Given the description of an element on the screen output the (x, y) to click on. 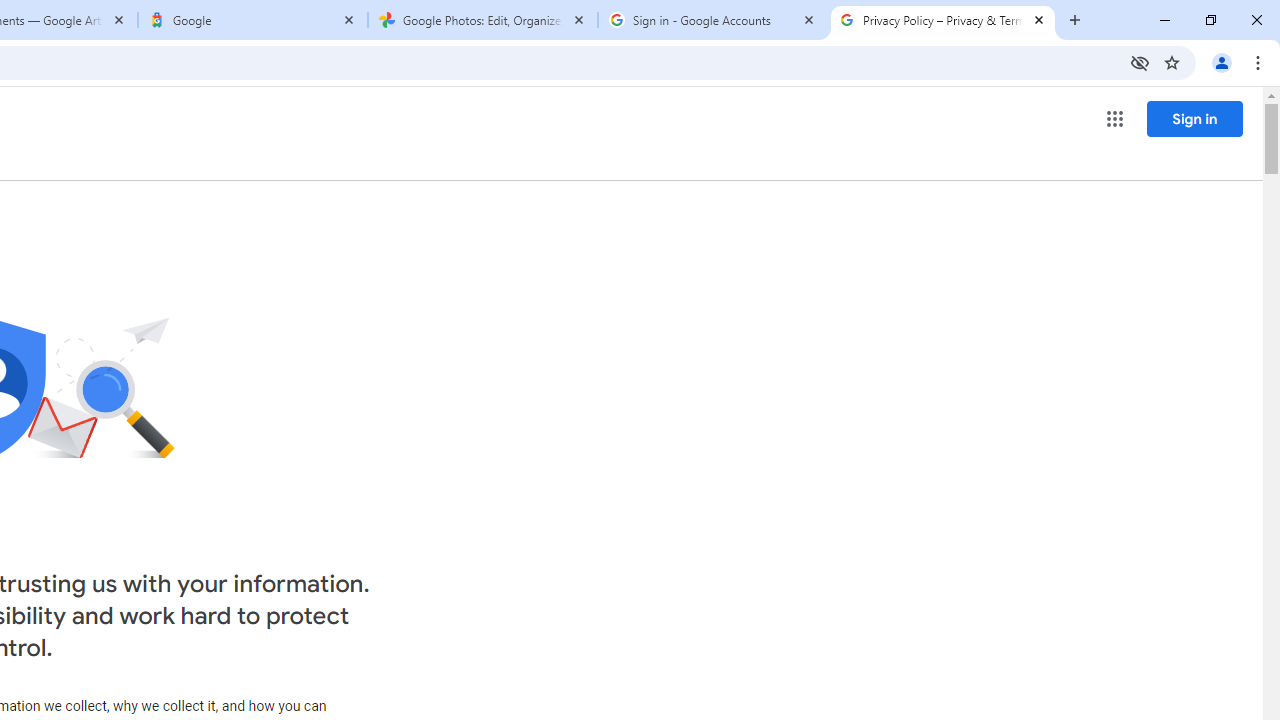
Sign in - Google Accounts (712, 20)
Google (253, 20)
